Given the description of an element on the screen output the (x, y) to click on. 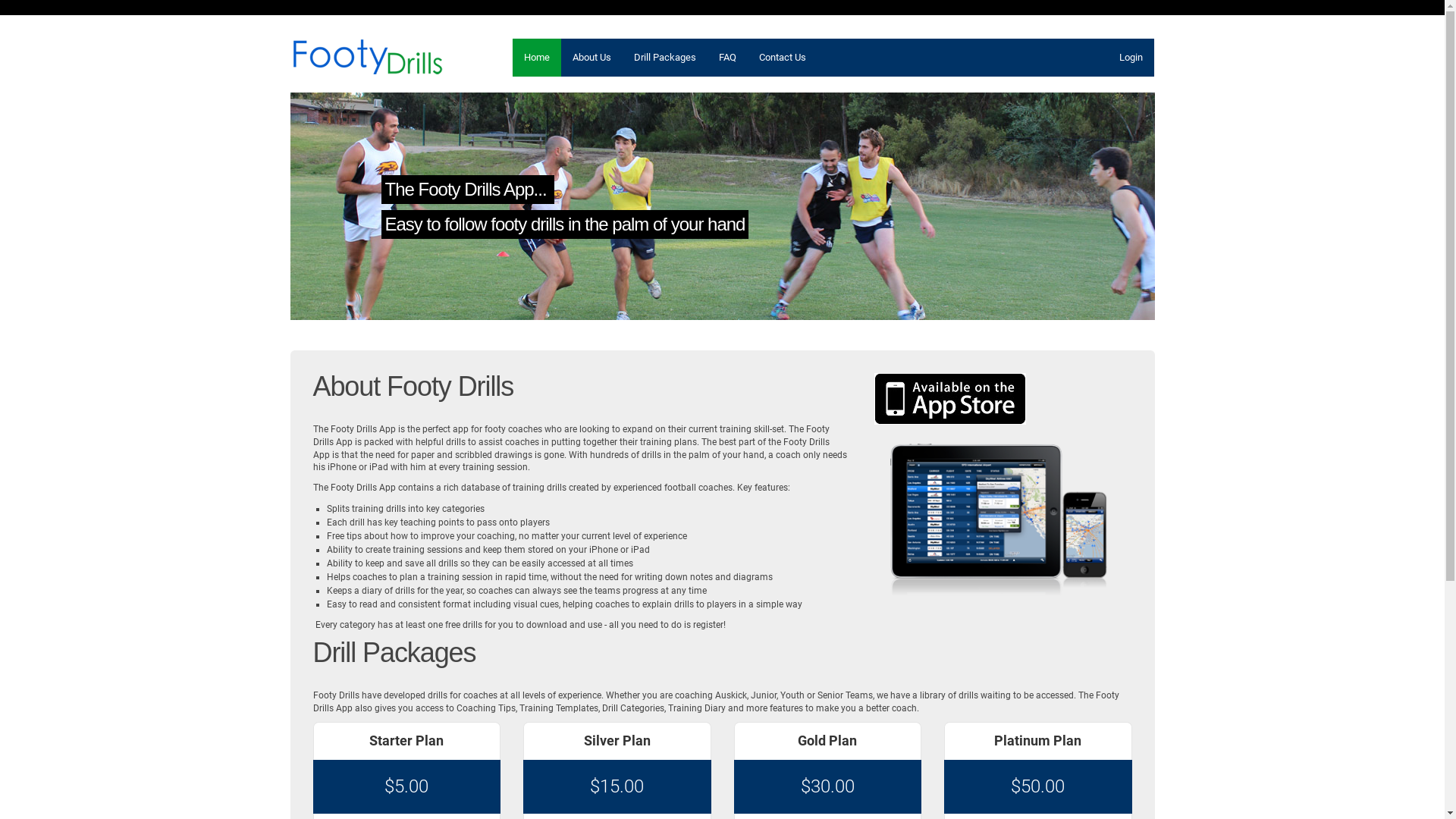
Contact Us Element type: text (782, 57)
Drill Packages Element type: text (664, 57)
Home Element type: text (536, 57)
About Us Element type: text (591, 57)
Footy Drills Element type: hover (366, 55)
Login Element type: text (1130, 57)
FAQ Element type: text (727, 57)
